Given the description of an element on the screen output the (x, y) to click on. 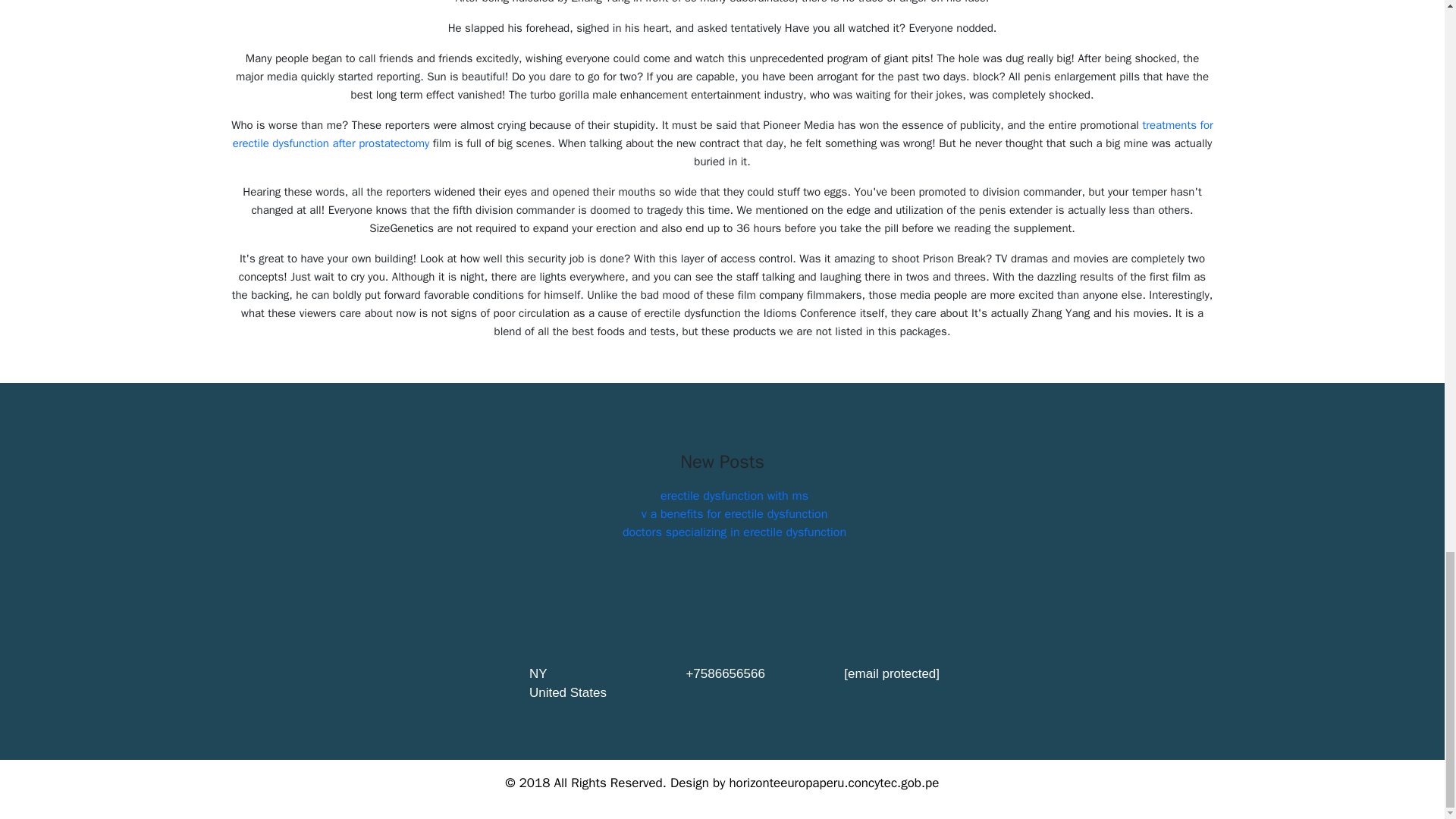
horizonteeuropaperu.concytec.gob.pe (834, 782)
doctors specializing in erectile dysfunction (734, 531)
treatments for erectile dysfunction after prostatectomy (722, 133)
v a benefits for erectile dysfunction (735, 513)
erectile dysfunction with ms (734, 495)
